Given the description of an element on the screen output the (x, y) to click on. 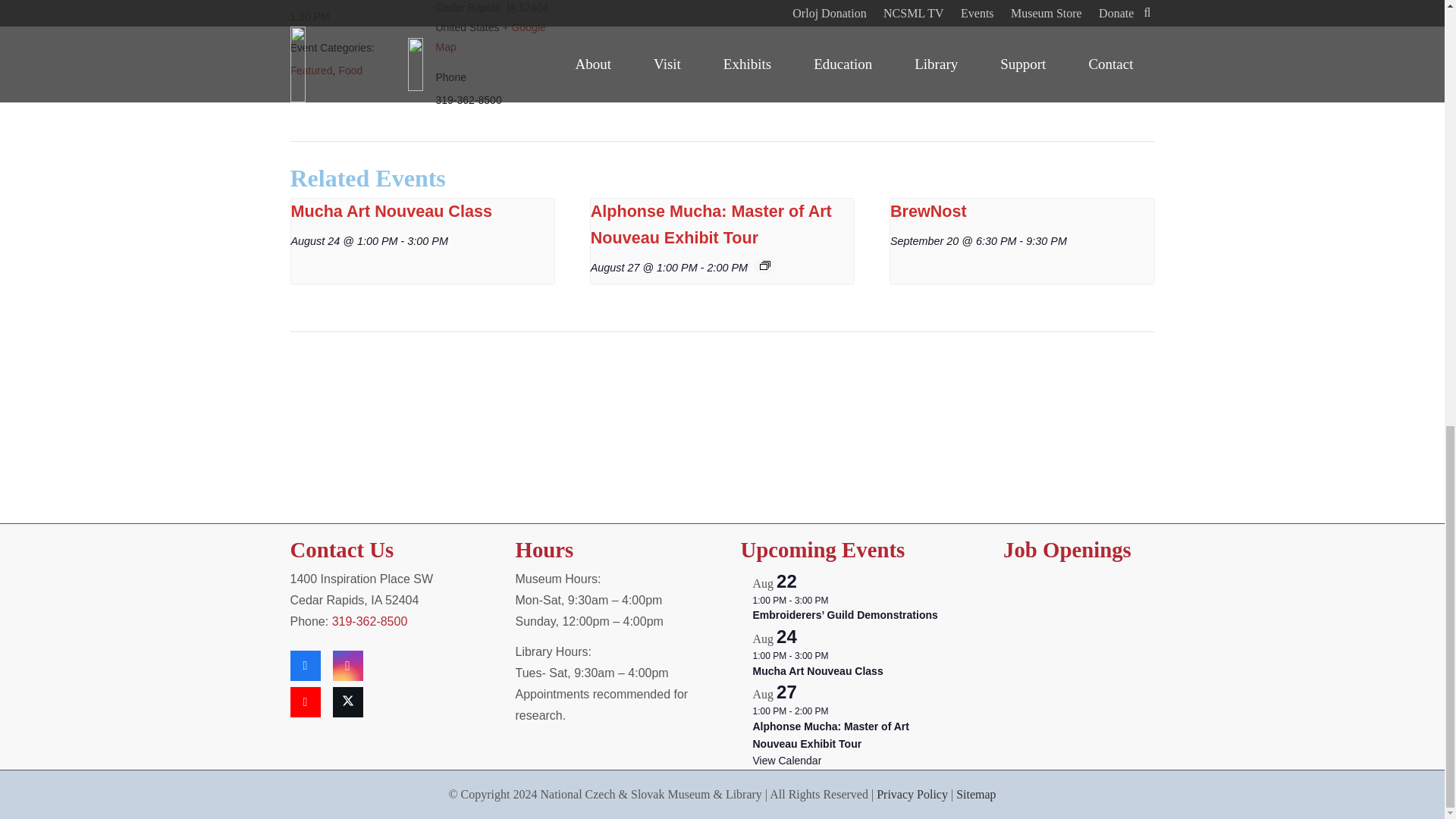
Instagram (346, 665)
2019-11-16 (352, 16)
YouTube (304, 702)
Facebook (304, 665)
Twitter (346, 702)
Event Series (765, 265)
Click to view a Google Map (489, 37)
Event Series (836, 600)
